Given the description of an element on the screen output the (x, y) to click on. 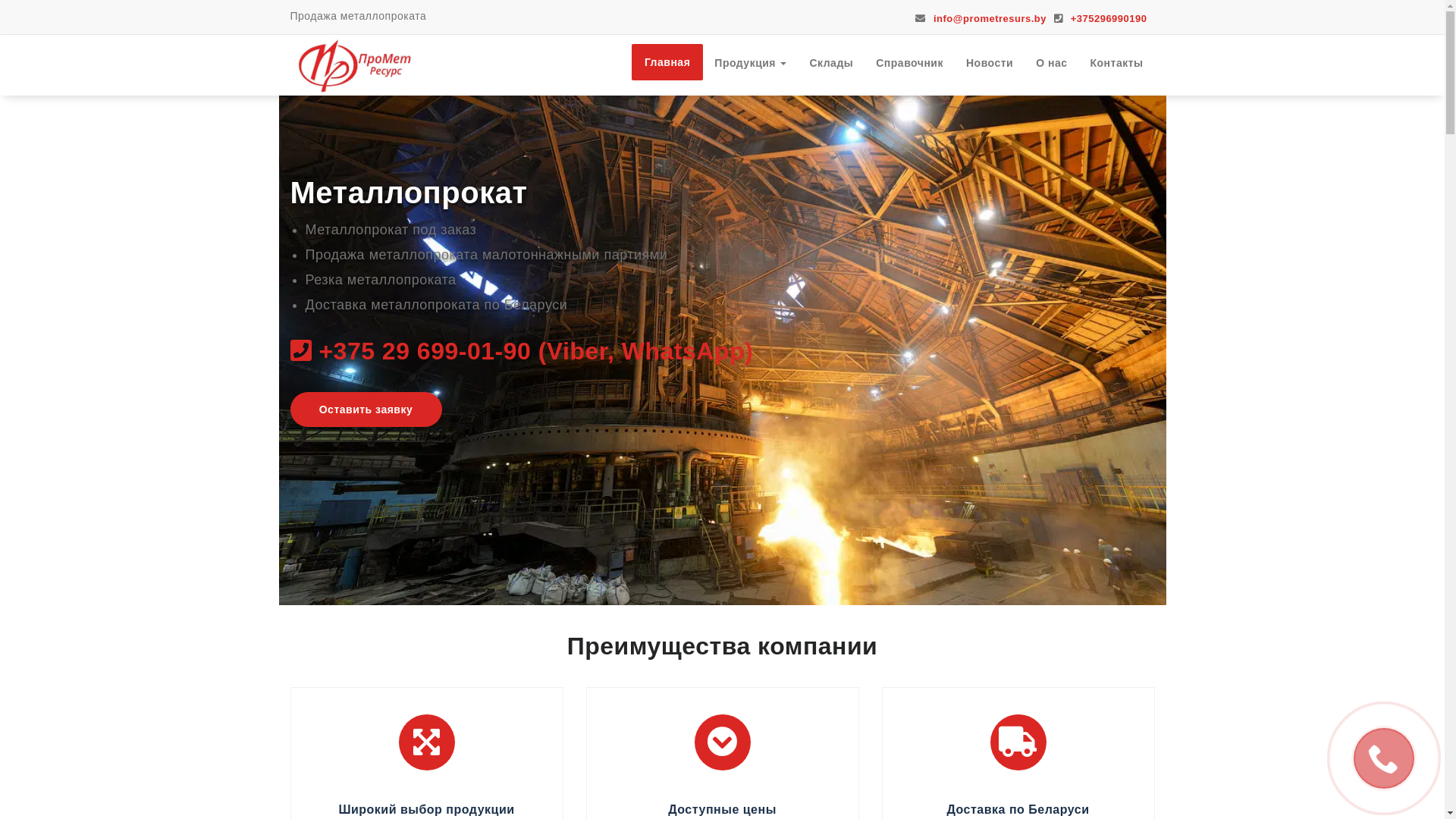
info@prometresurs.by Element type: text (980, 18)
+375 29 699-01-90 (Viber, WhatsApp) Element type: text (521, 350)
+375296990190 Element type: text (1100, 18)
